Given the description of an element on the screen output the (x, y) to click on. 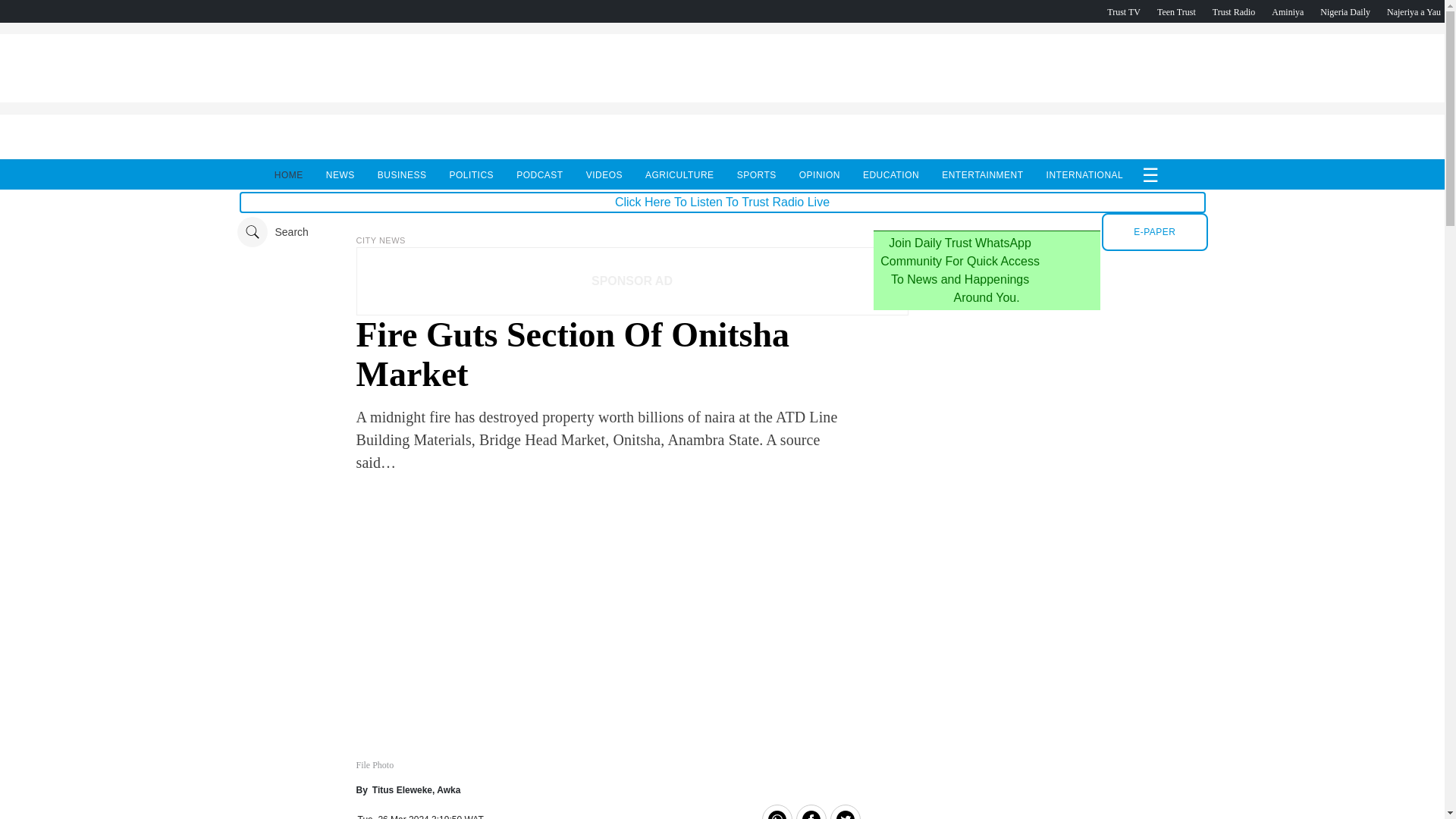
Saurari Shirye Shiryenmu (1414, 11)
OPAY: Contact Us (721, 97)
Trust TV Live (1123, 11)
E-Paper Subscription (1154, 231)
Nigeria Daily (1345, 11)
Search (271, 232)
Dailytrust (722, 231)
Podcast (1345, 11)
Teen Trust (1176, 11)
Trust Radio Live (1233, 11)
